Given the description of an element on the screen output the (x, y) to click on. 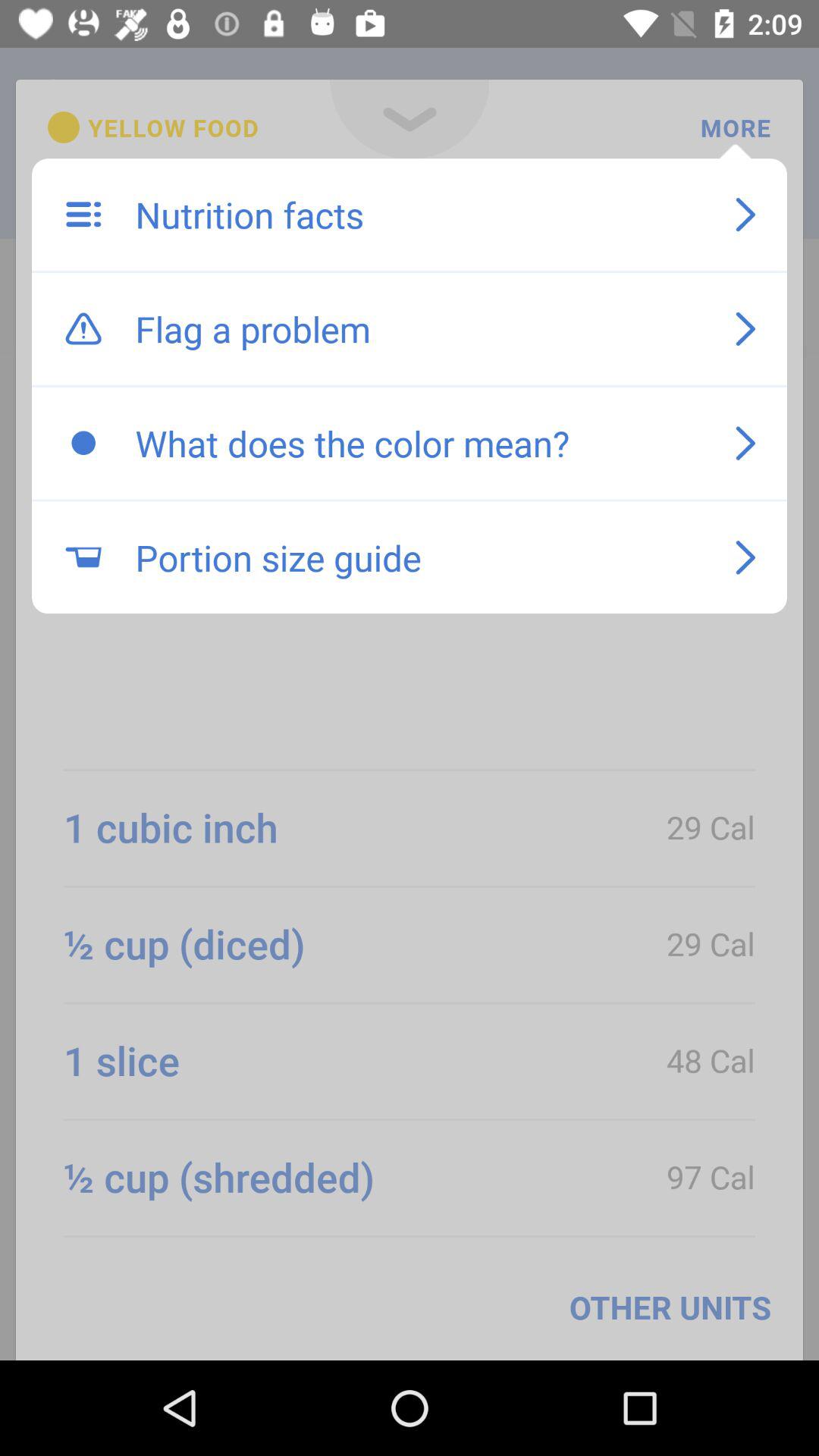
launch the what does the icon (419, 443)
